Given the description of an element on the screen output the (x, y) to click on. 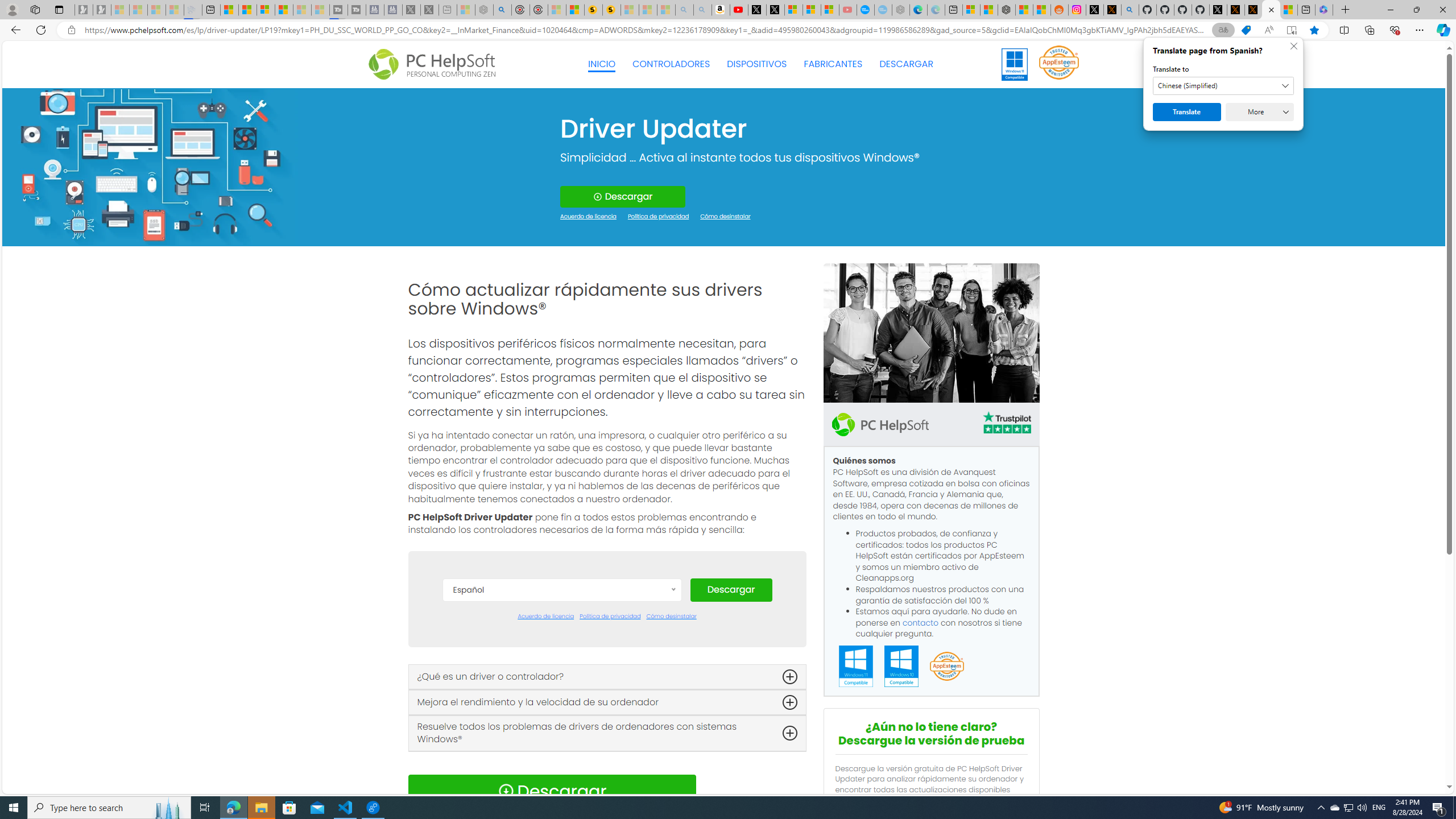
Generic (150, 166)
Newsletter Sign Up - Sleeping (102, 9)
Descargar (730, 589)
poe - Search (502, 9)
Nordace - Summer Adventures 2024 - Sleeping (483, 9)
Windows 11 Compatible (855, 666)
team (930, 332)
Windows 10 Compatible (900, 666)
TrustPilot (1006, 422)
